Given the description of an element on the screen output the (x, y) to click on. 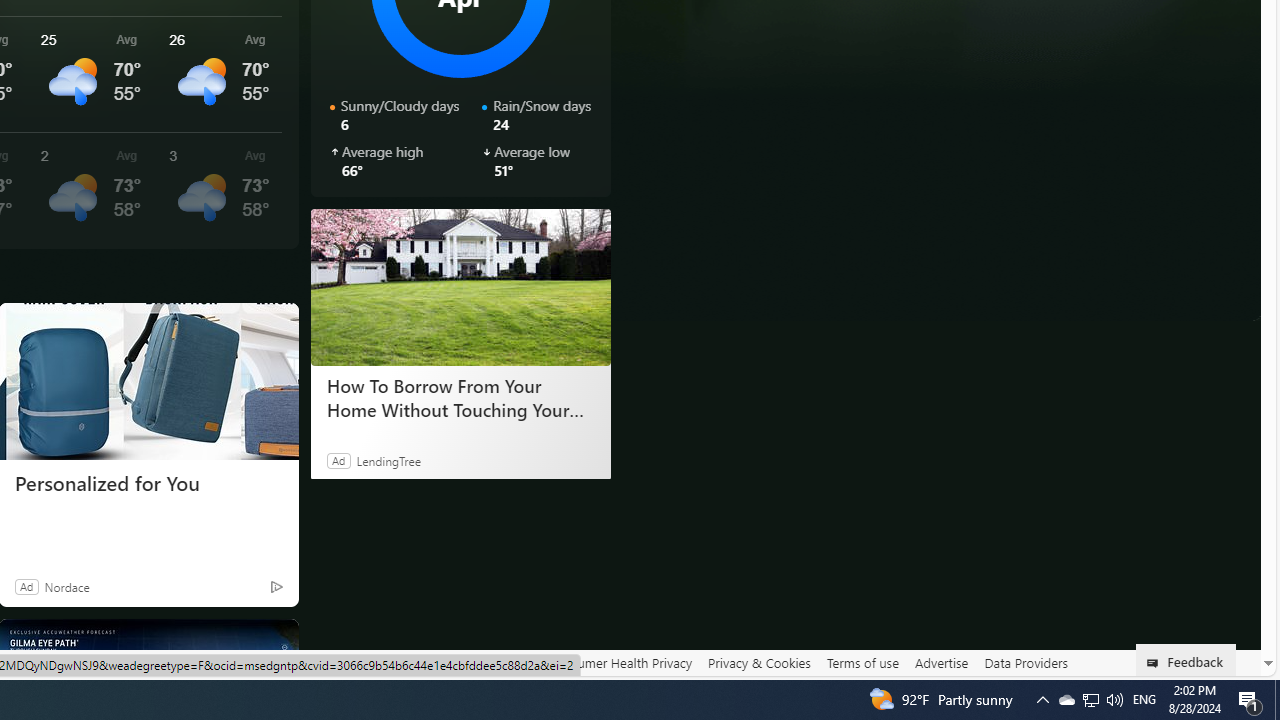
Terms of use (861, 663)
See More Details (221, 190)
Ad (26, 586)
Terms of use (861, 662)
LendingTree (388, 460)
Feedback (1186, 659)
Consumer Health Privacy (619, 662)
Ad Choice (276, 586)
Privacy & Cookies (759, 662)
Advertise (940, 662)
Your Privacy Choices (456, 662)
Your Privacy Choices (456, 663)
See more (274, 642)
